Given the description of an element on the screen output the (x, y) to click on. 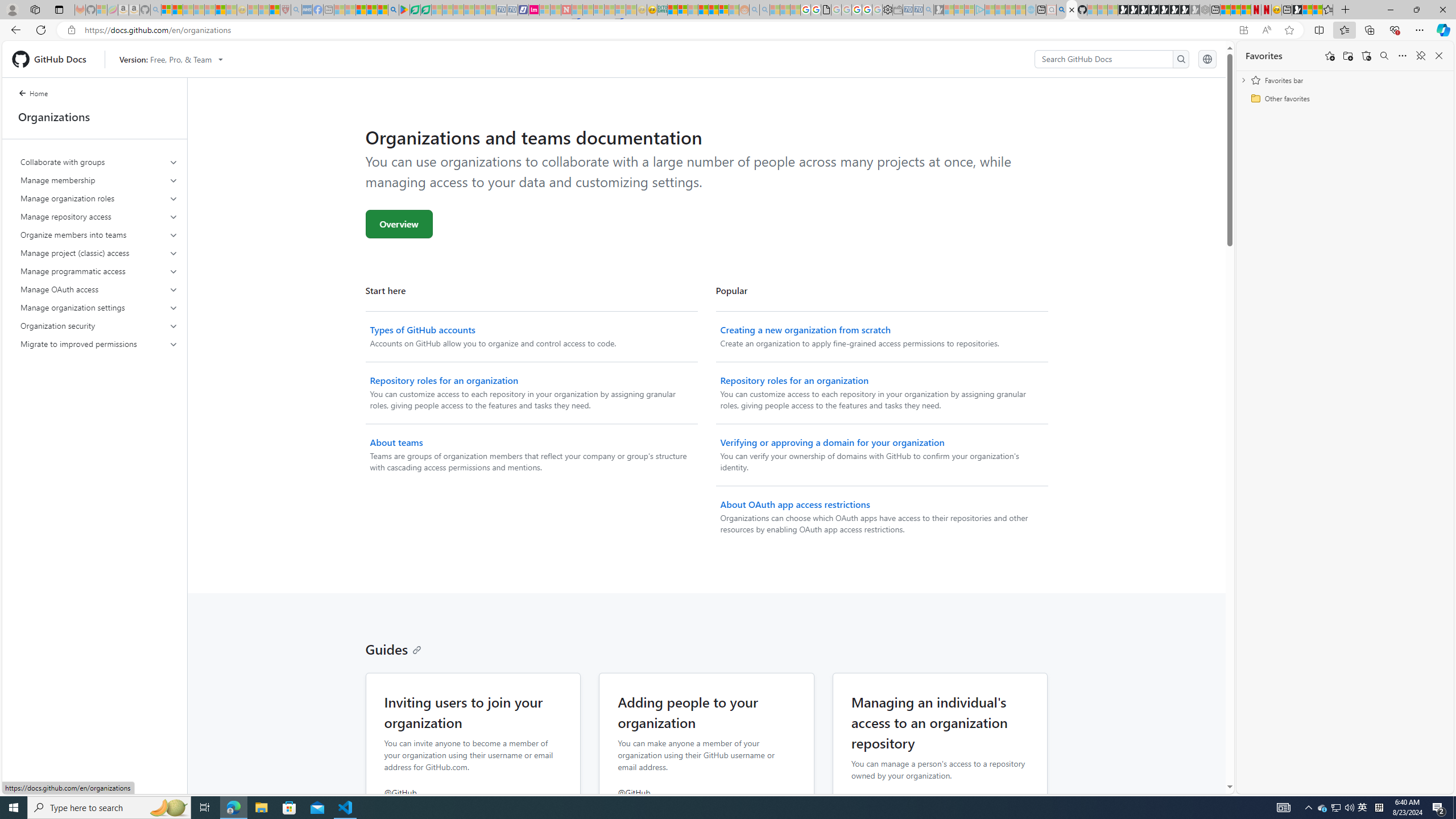
Microsoft Word - consumer-privacy address update 2.2021 (426, 9)
Bluey: Let's Play! - Apps on Google Play (404, 9)
github - Search (1061, 9)
Add this page to favorites (1330, 55)
Local - MSN (274, 9)
